Given the description of an element on the screen output the (x, y) to click on. 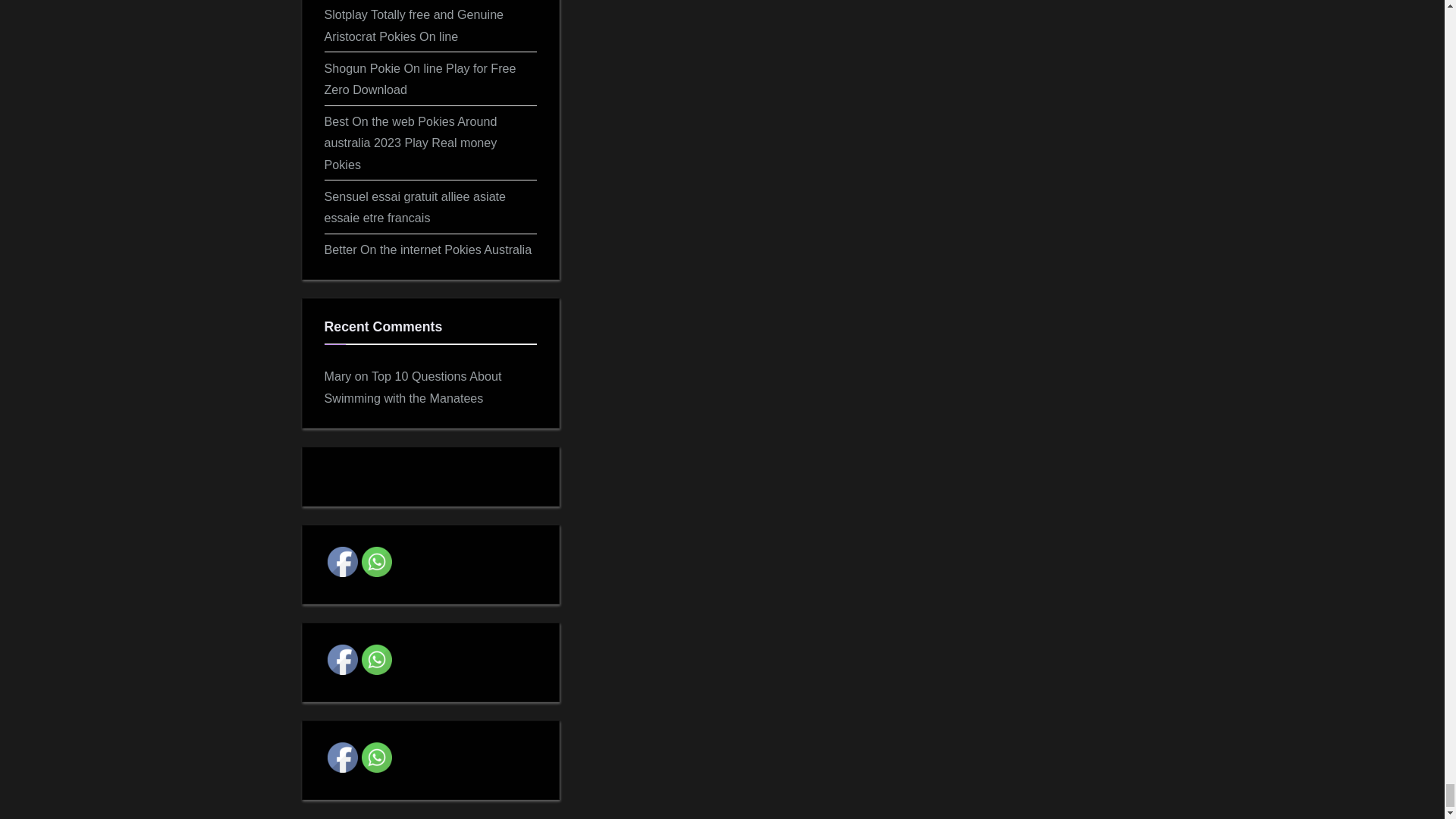
WhatsApp (376, 757)
Facebook (342, 562)
Facebook (342, 659)
WhatsApp (376, 659)
Facebook (342, 757)
WhatsApp (376, 562)
